Given the description of an element on the screen output the (x, y) to click on. 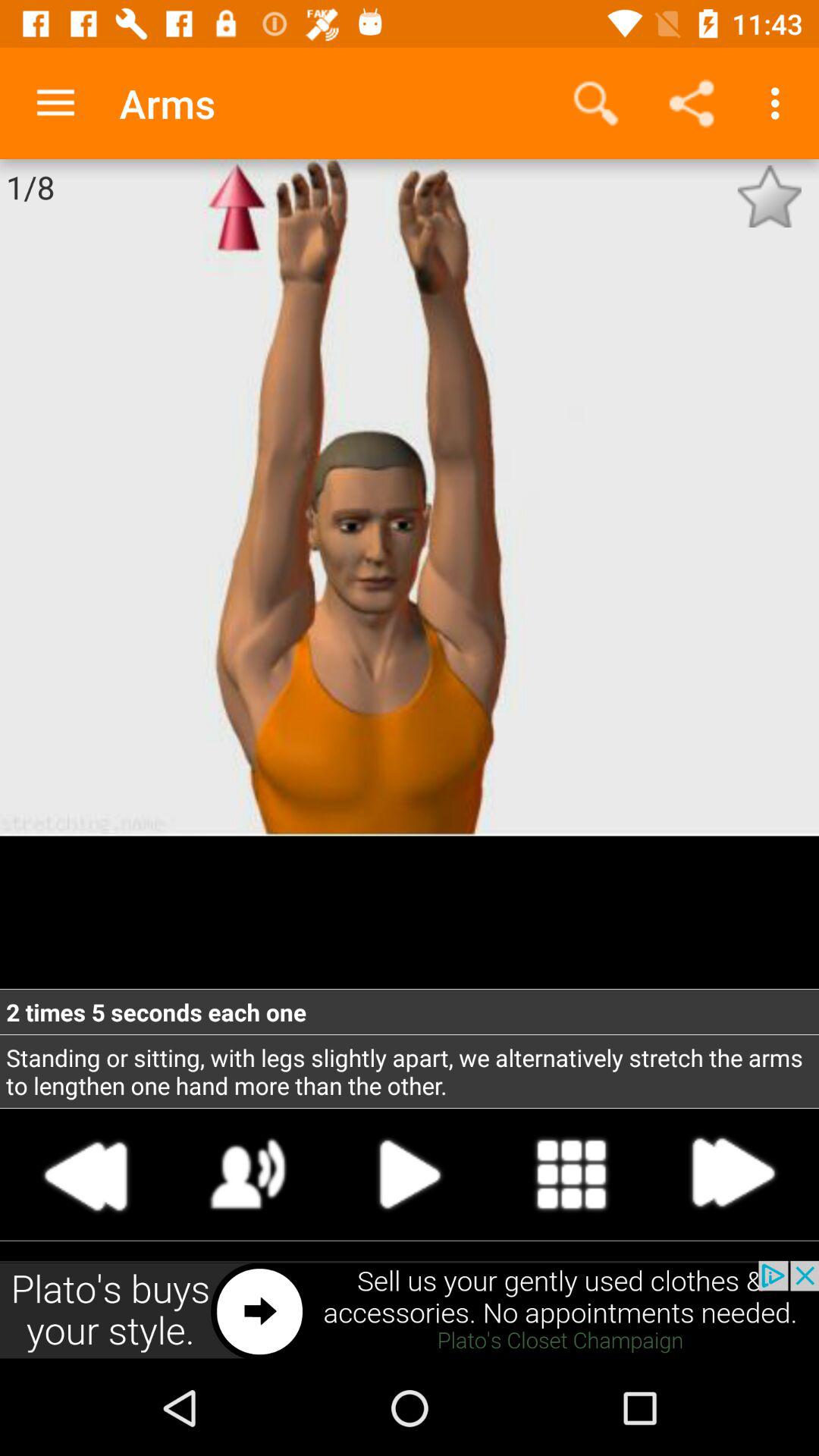
repeat speech (248, 1174)
